Given the description of an element on the screen output the (x, y) to click on. 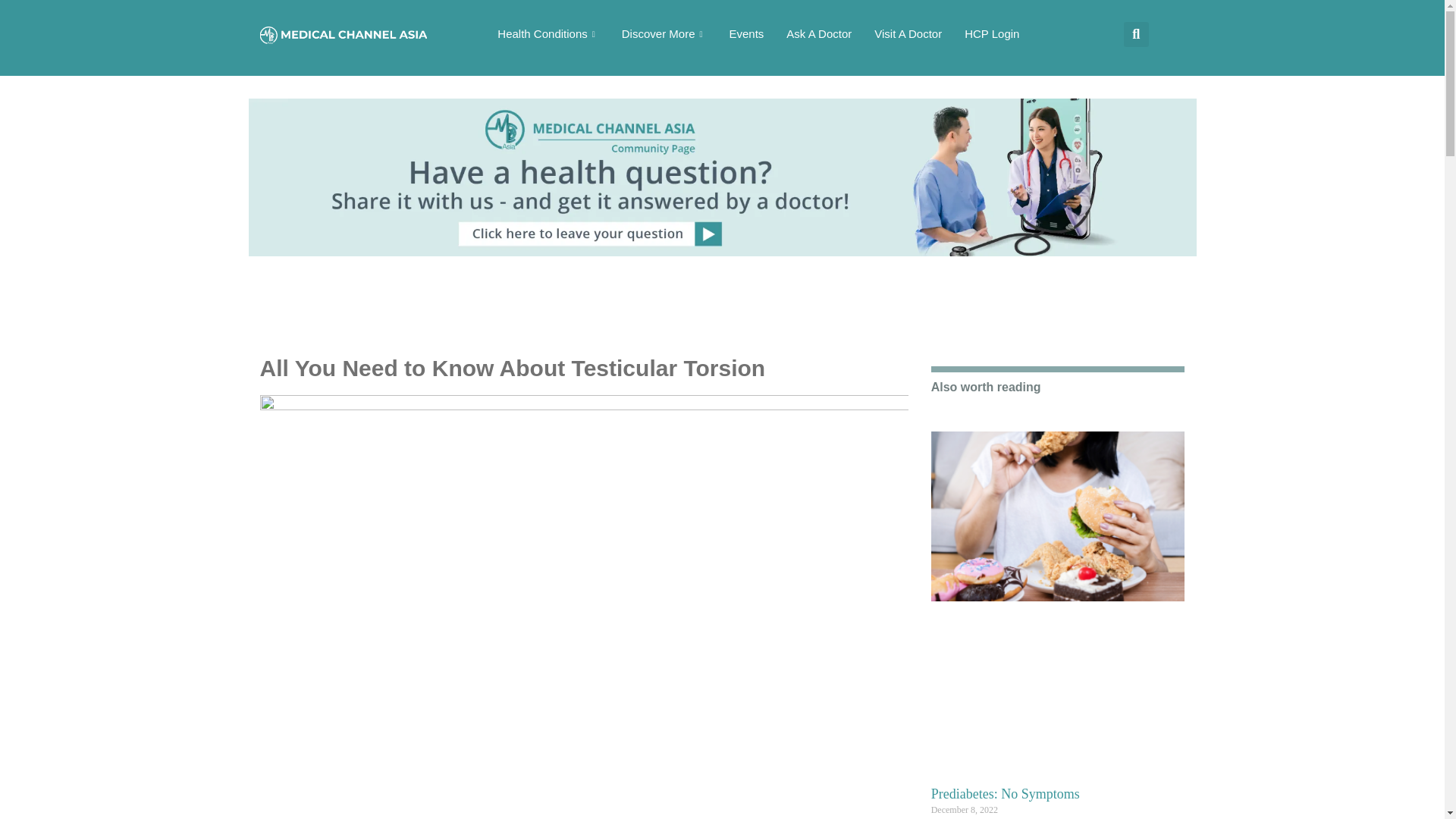
HCP Login (991, 33)
Events (745, 33)
Discover More (663, 33)
Ask A Doctor (818, 33)
Health Conditions (548, 33)
Visit A Doctor (908, 33)
